Given the description of an element on the screen output the (x, y) to click on. 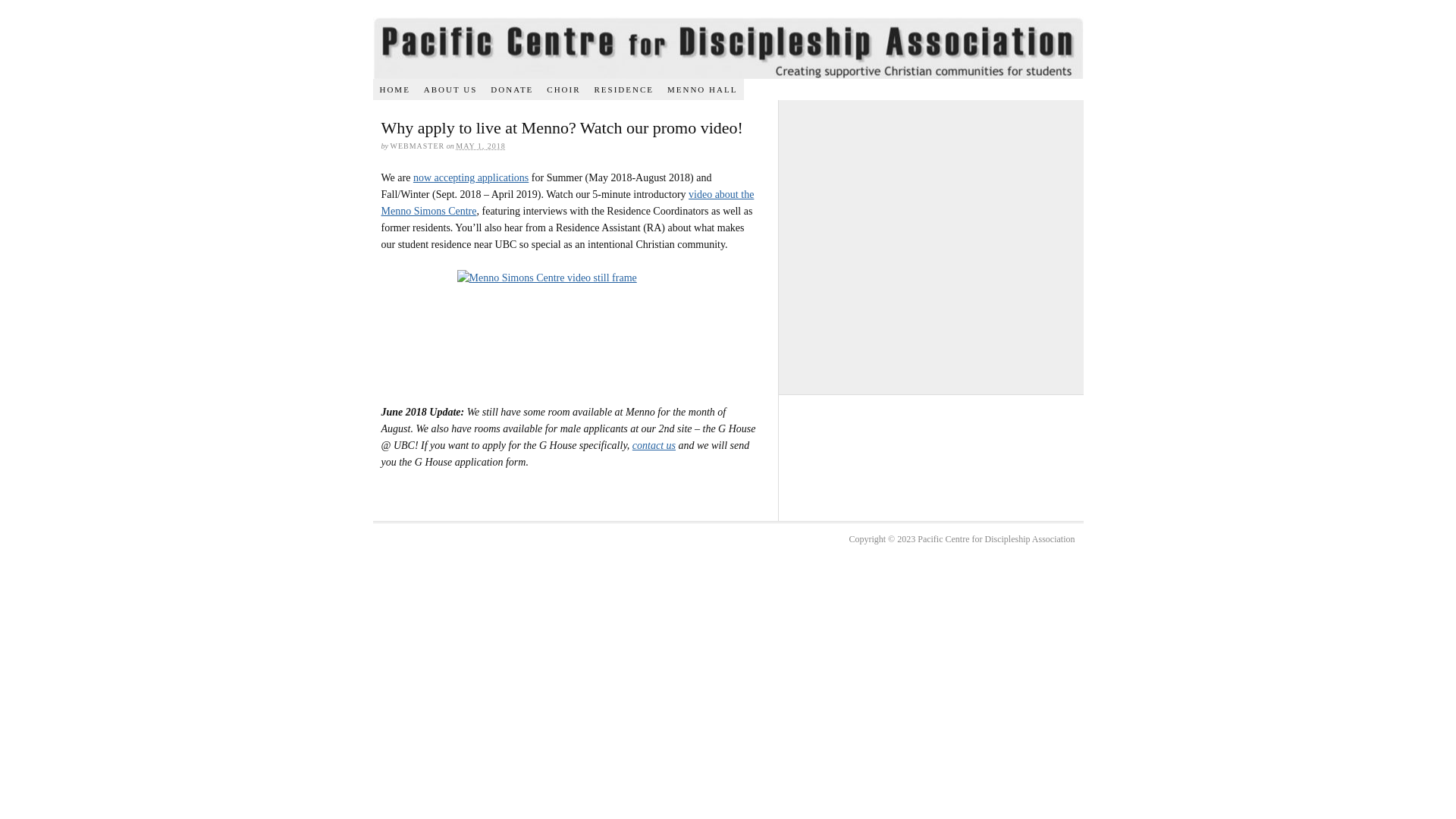
video about the Menno Simons Centre Element type: text (566, 202)
now accepting applications Element type: text (470, 177)
ABOUT US Element type: text (450, 89)
CHOIR Element type: text (562, 89)
RESIDENCE Element type: text (623, 89)
MENNO HALL Element type: text (701, 89)
contact us Element type: text (653, 445)
HOME Element type: text (395, 89)
DONATE Element type: text (511, 89)
